Given the description of an element on the screen output the (x, y) to click on. 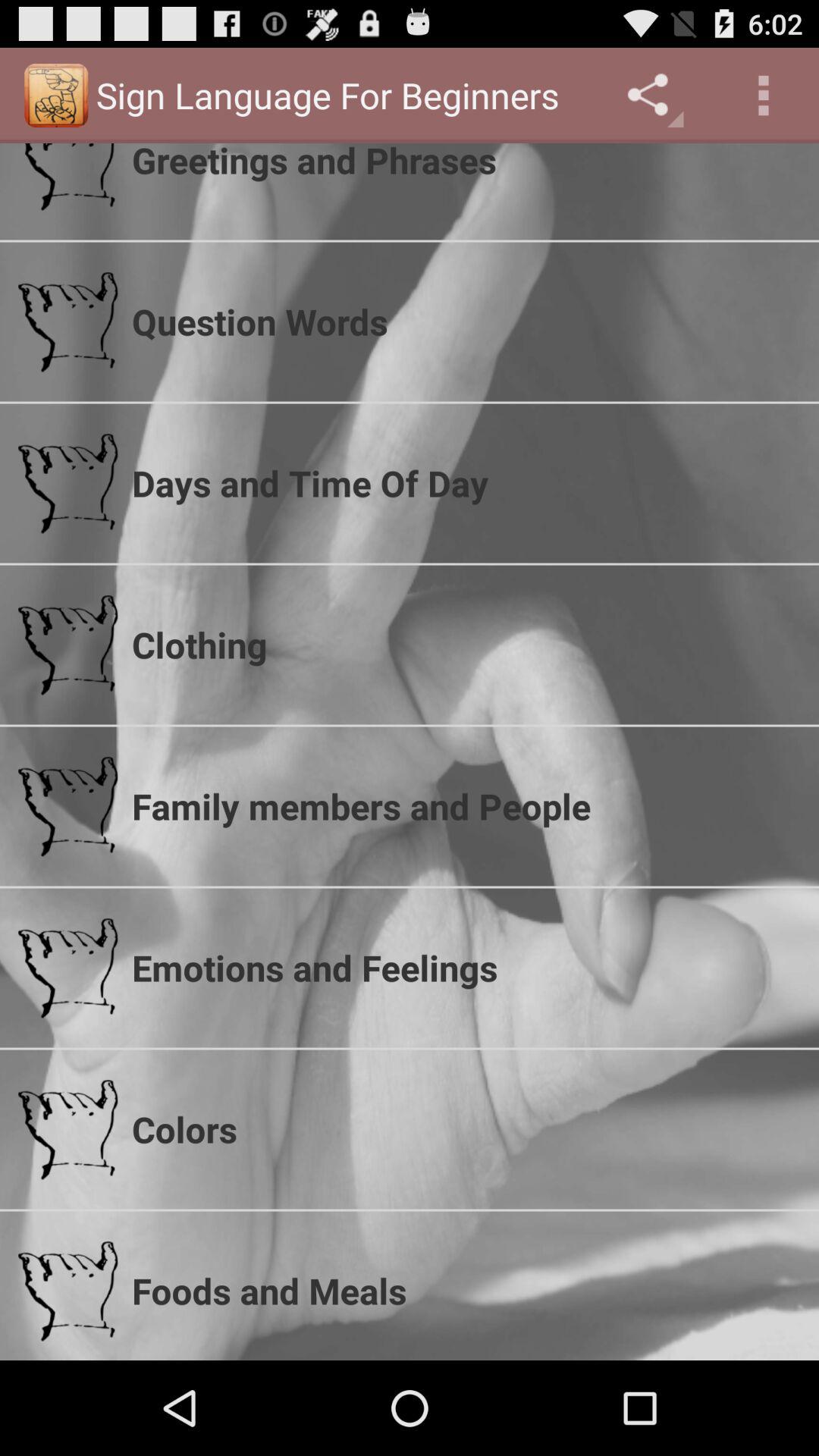
tap the icon below greetings and phrases icon (465, 321)
